Given the description of an element on the screen output the (x, y) to click on. 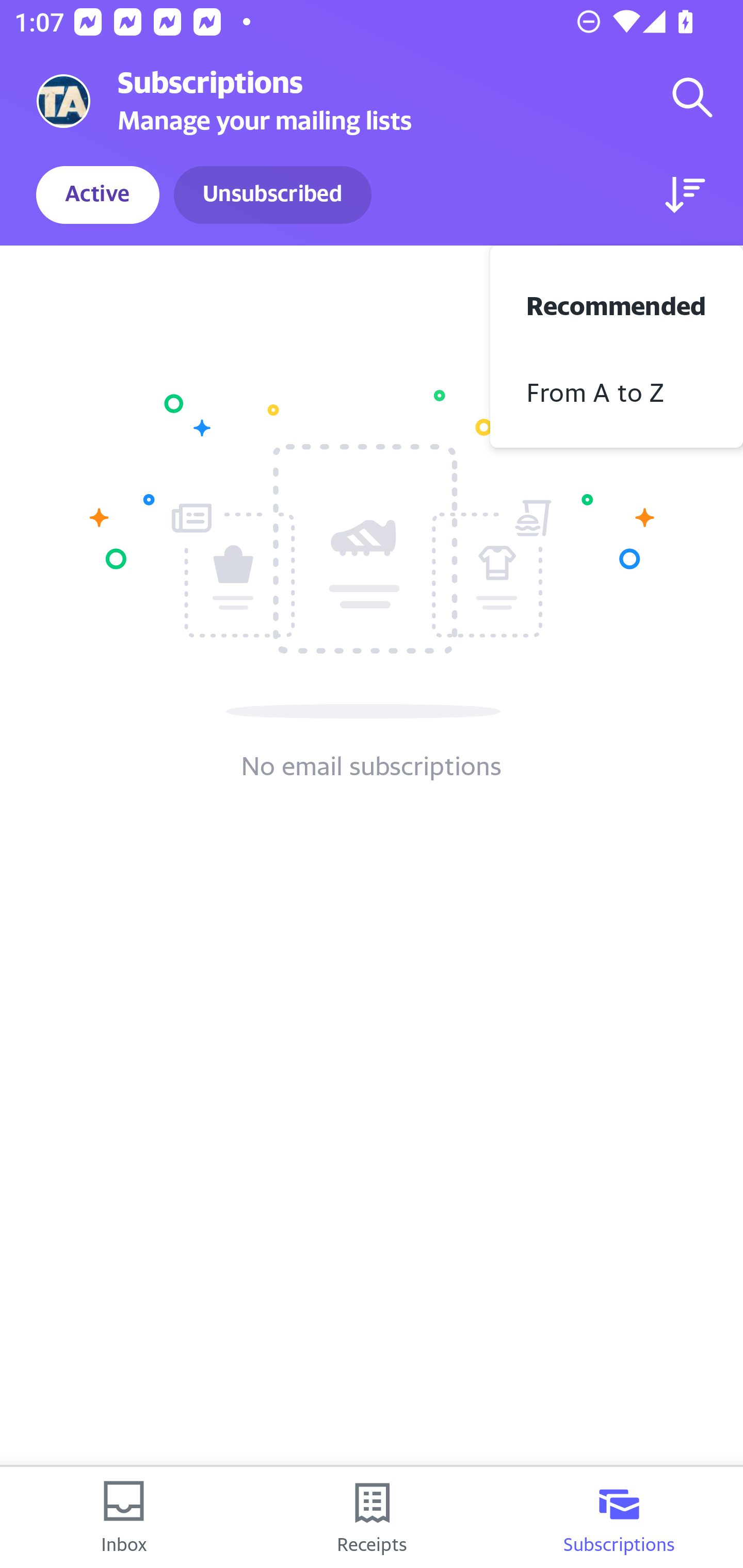
Recommended (616, 303)
From A to Z (616, 389)
